Given the description of an element on the screen output the (x, y) to click on. 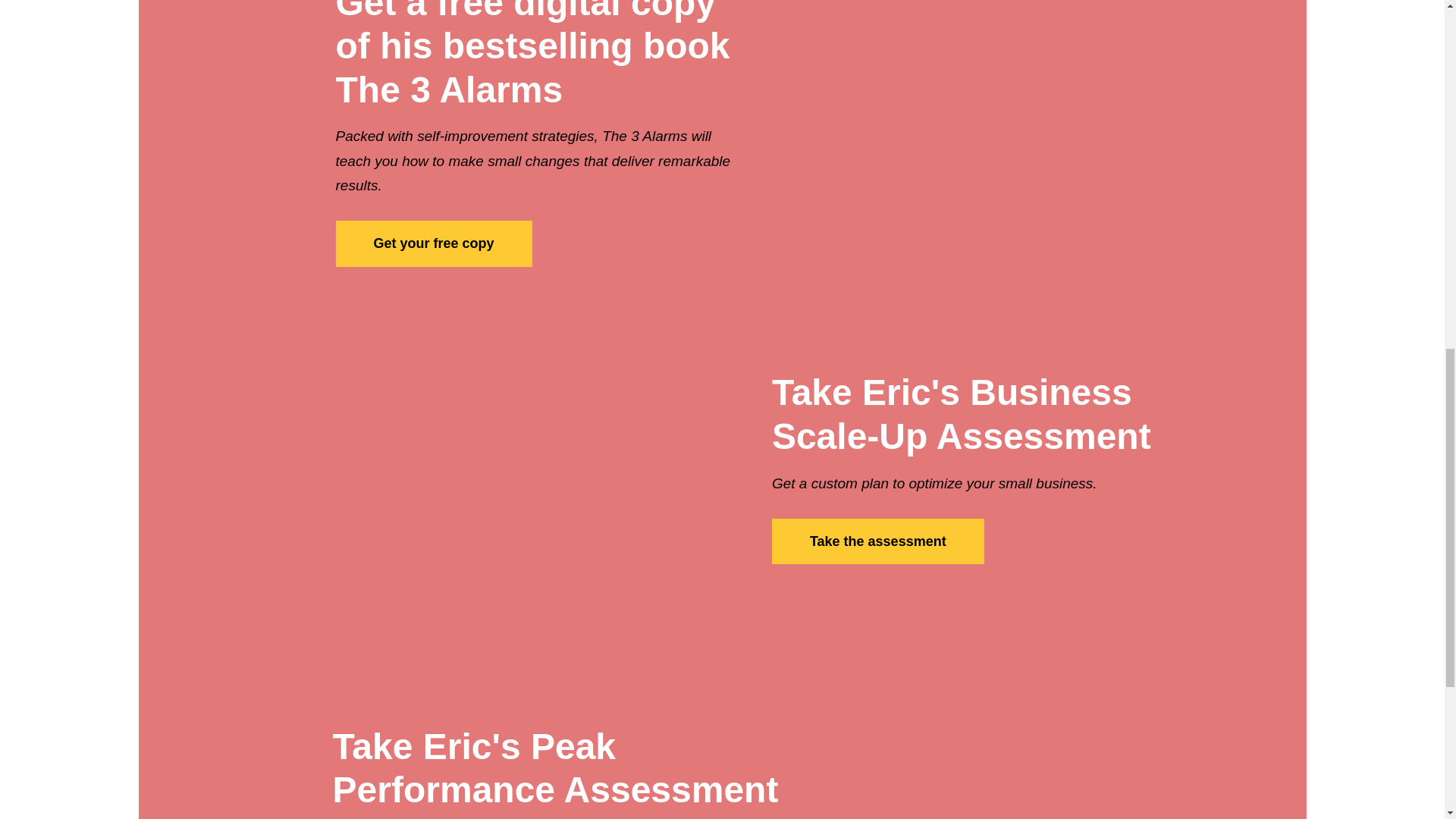
Get your free copy (432, 243)
Take the assessment (877, 541)
